Given the description of an element on the screen output the (x, y) to click on. 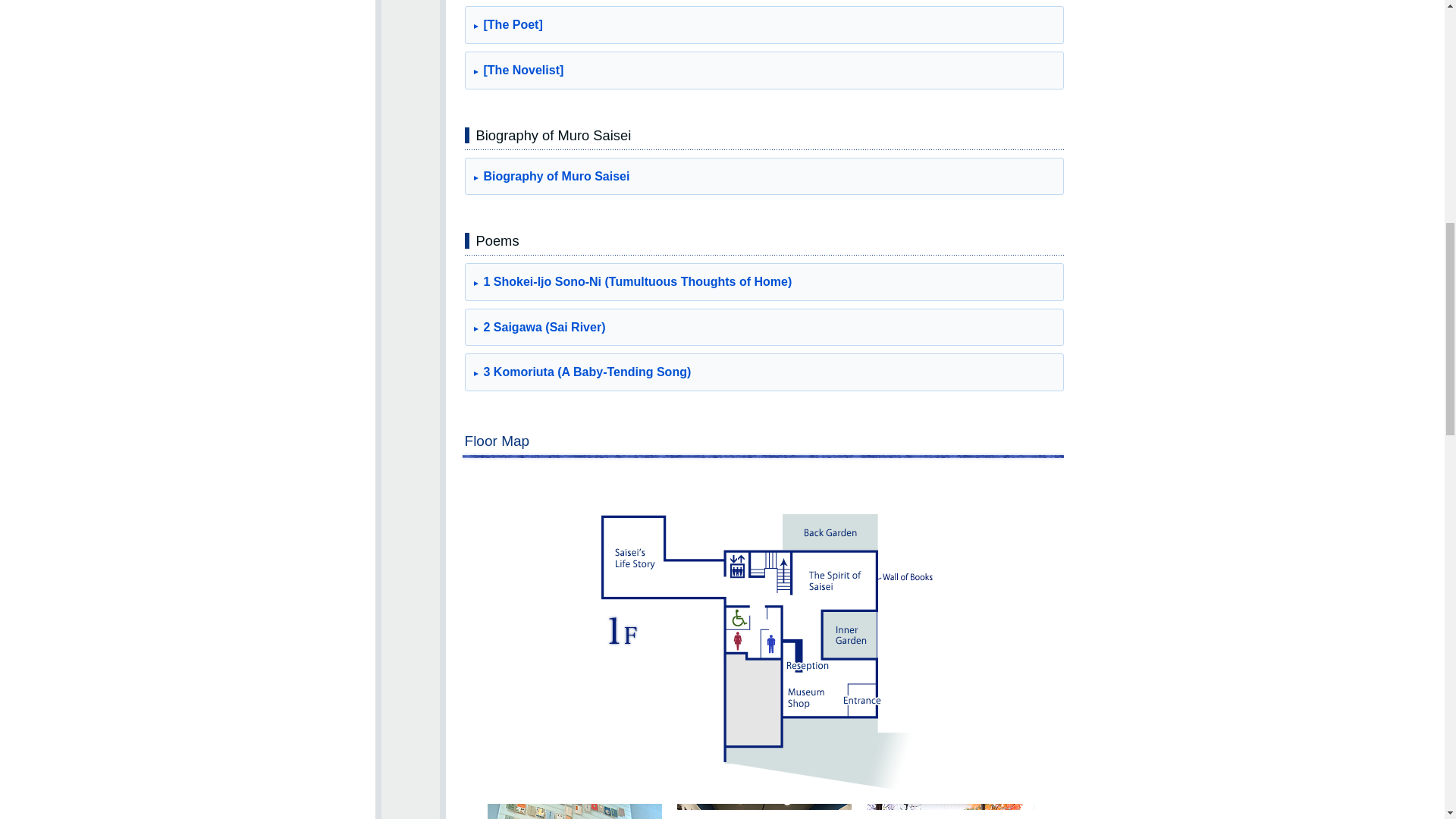
Sasei's Life Story (763, 811)
Wall of Books (573, 811)
Back Garden (953, 811)
